Given the description of an element on the screen output the (x, y) to click on. 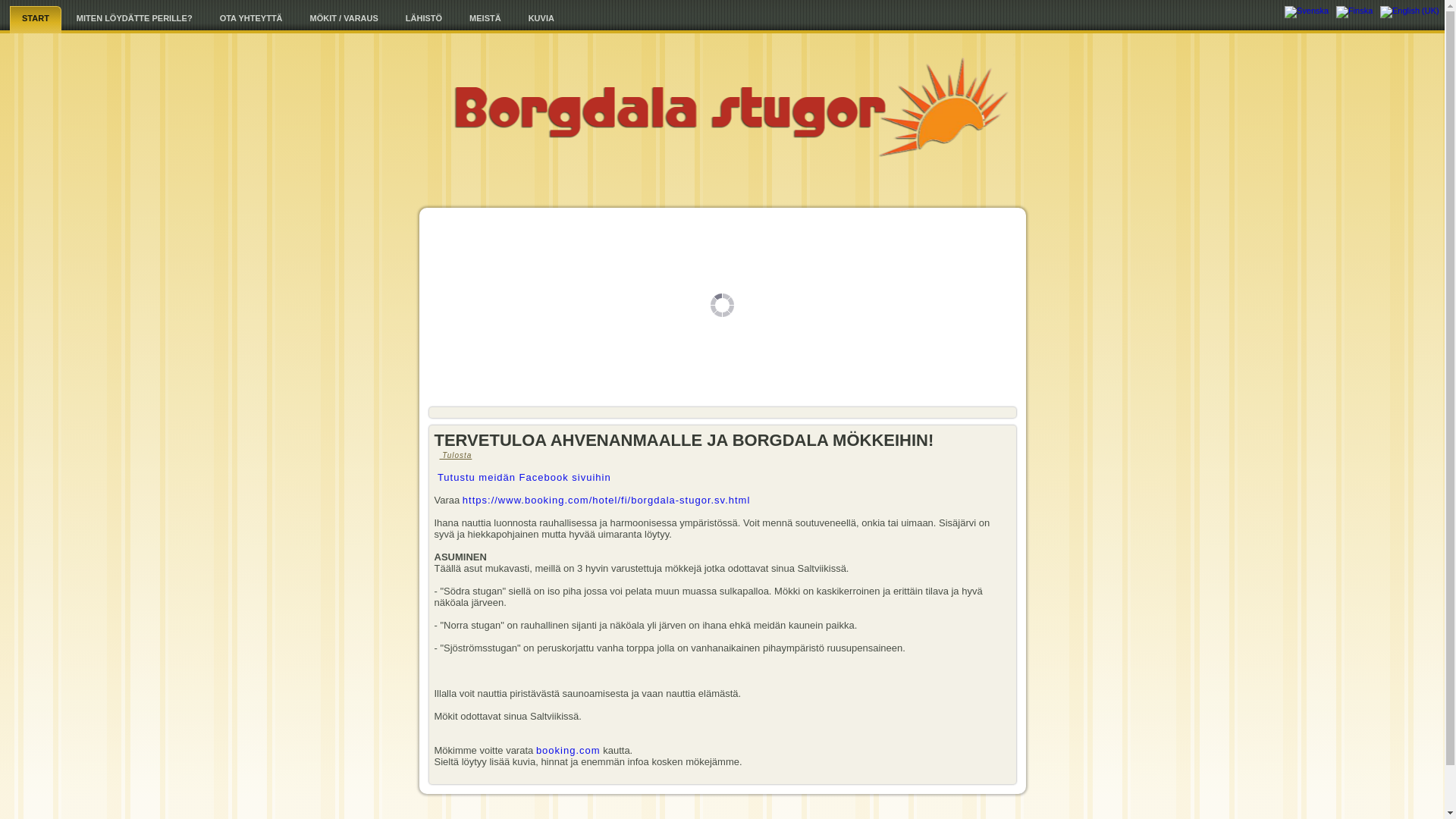
Finska Element type: hover (1354, 12)
Tulosta Element type: text (453, 455)
booking.com Element type: text (568, 750)
Svenska Element type: hover (1306, 12)
English (UK) Element type: hover (1409, 12)
https://www.booking.com/hotel/fi/borgdala-stugor.sv.html Element type: text (605, 499)
START Element type: text (35, 19)
KUVIA Element type: text (541, 18)
